Given the description of an element on the screen output the (x, y) to click on. 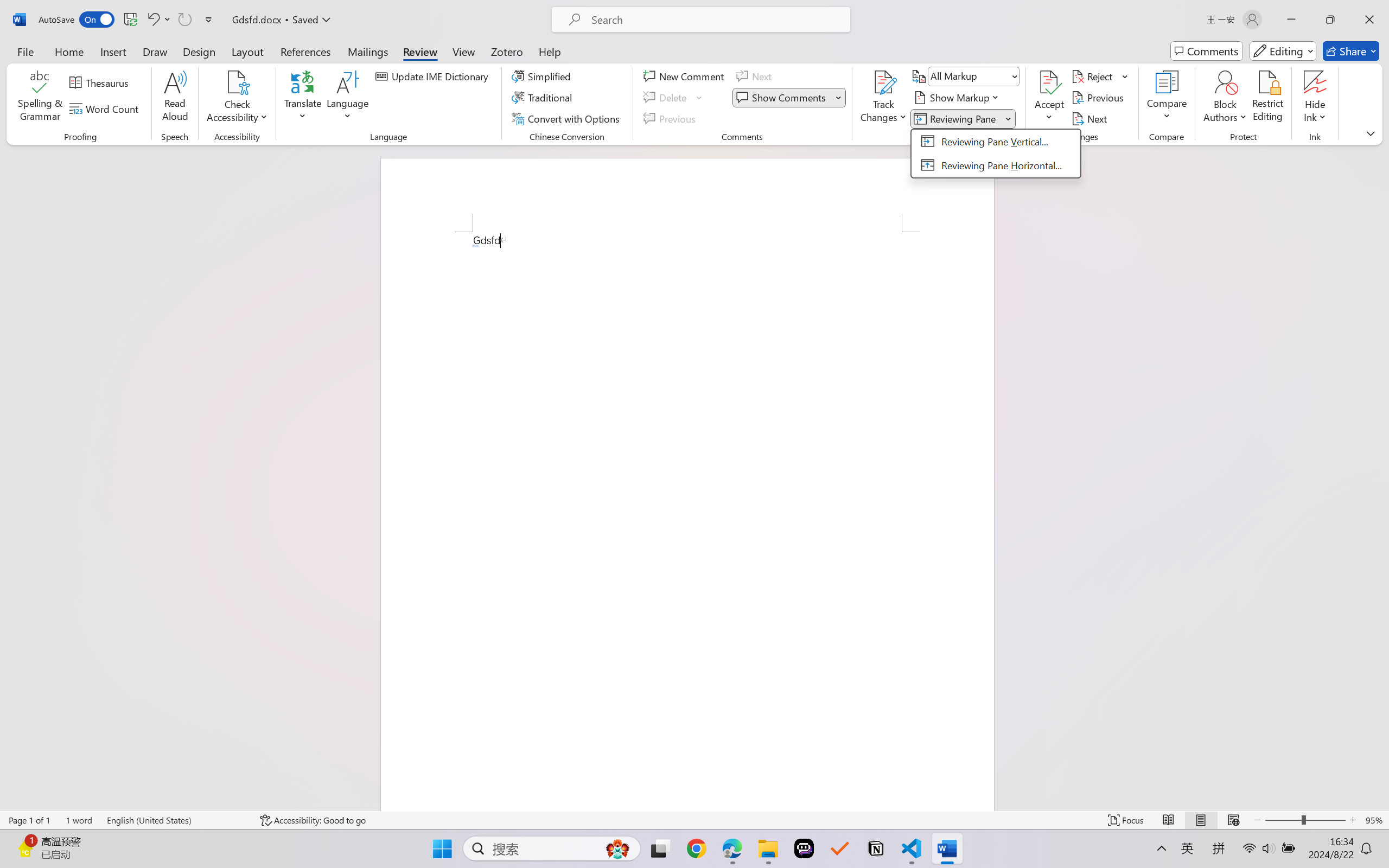
Display for Review (973, 75)
Track Changes (883, 81)
Accept (1049, 97)
Translate (303, 97)
Compare (1166, 97)
Reviewing Pane (995, 153)
Class: NetUIScrollBar (1382, 477)
